Given the description of an element on the screen output the (x, y) to click on. 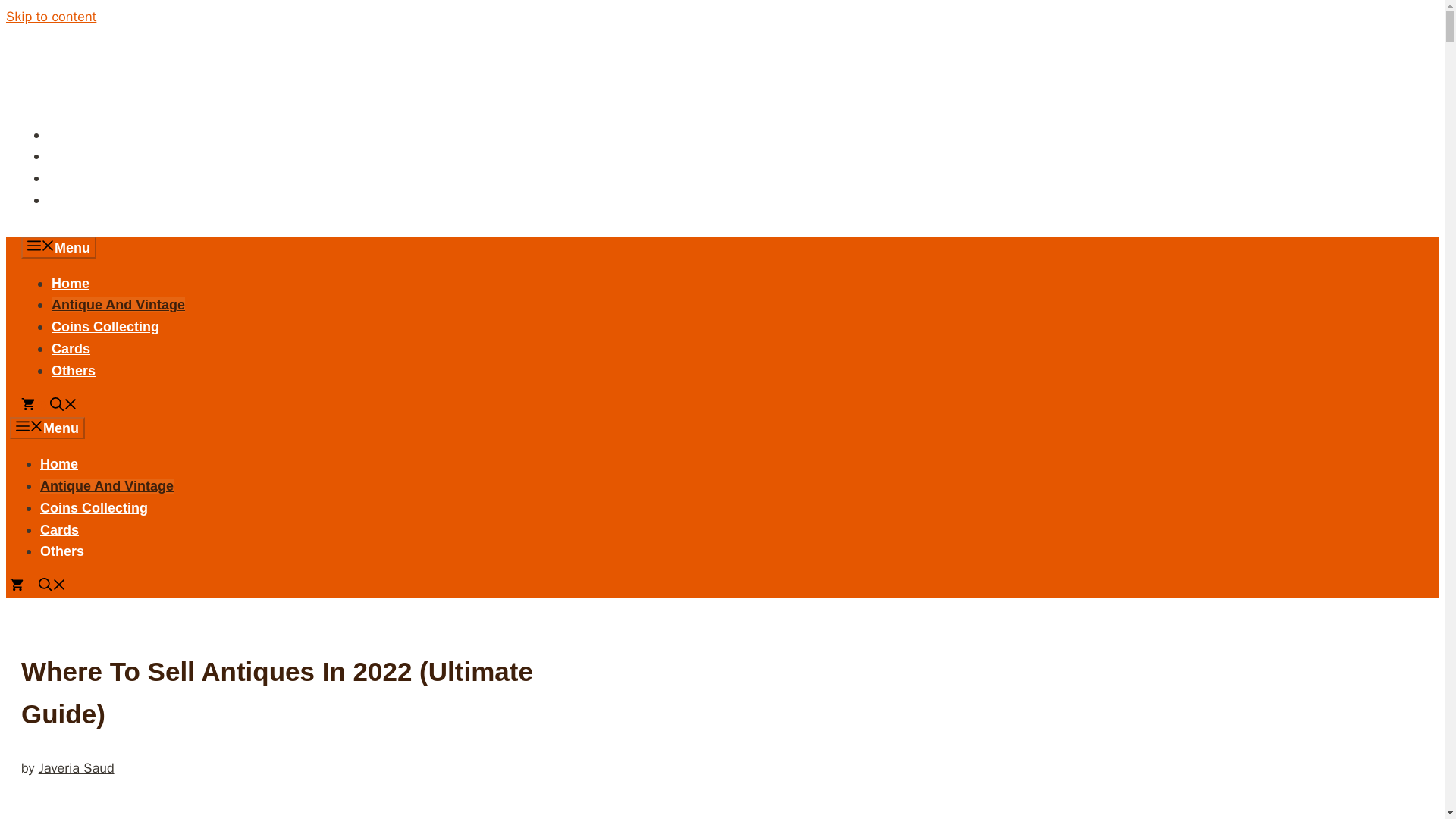
Home (59, 463)
View your shopping cart (22, 586)
Menu (47, 427)
Cards (70, 348)
Cards (59, 529)
Coins Collecting (104, 326)
Jacqueline Rare Antique (722, 40)
Skip to content (50, 16)
Antique And Vintage (117, 304)
Others (62, 550)
